Given the description of an element on the screen output the (x, y) to click on. 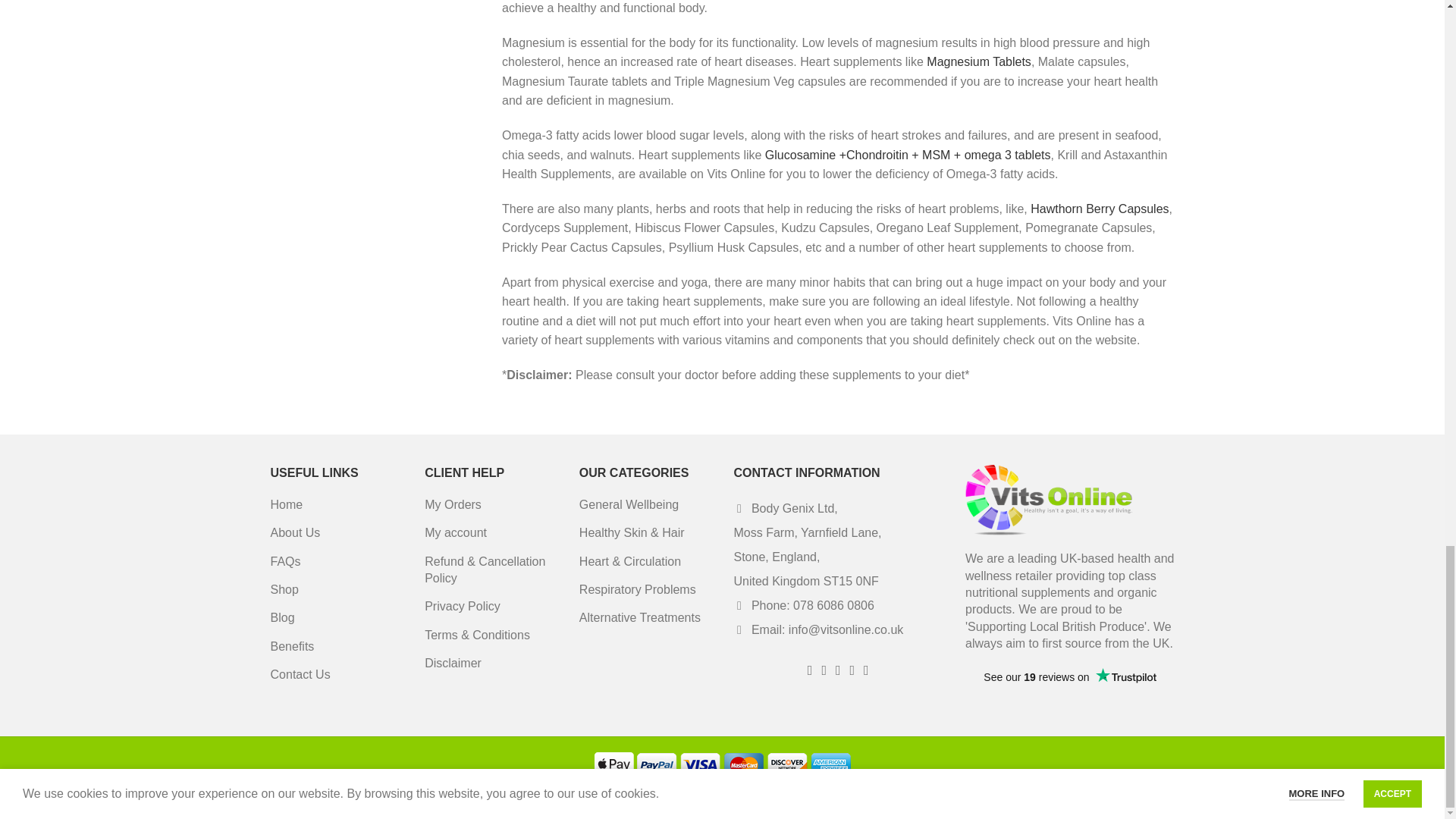
Customer reviews powered by Trustpilot (1069, 686)
